Given the description of an element on the screen output the (x, y) to click on. 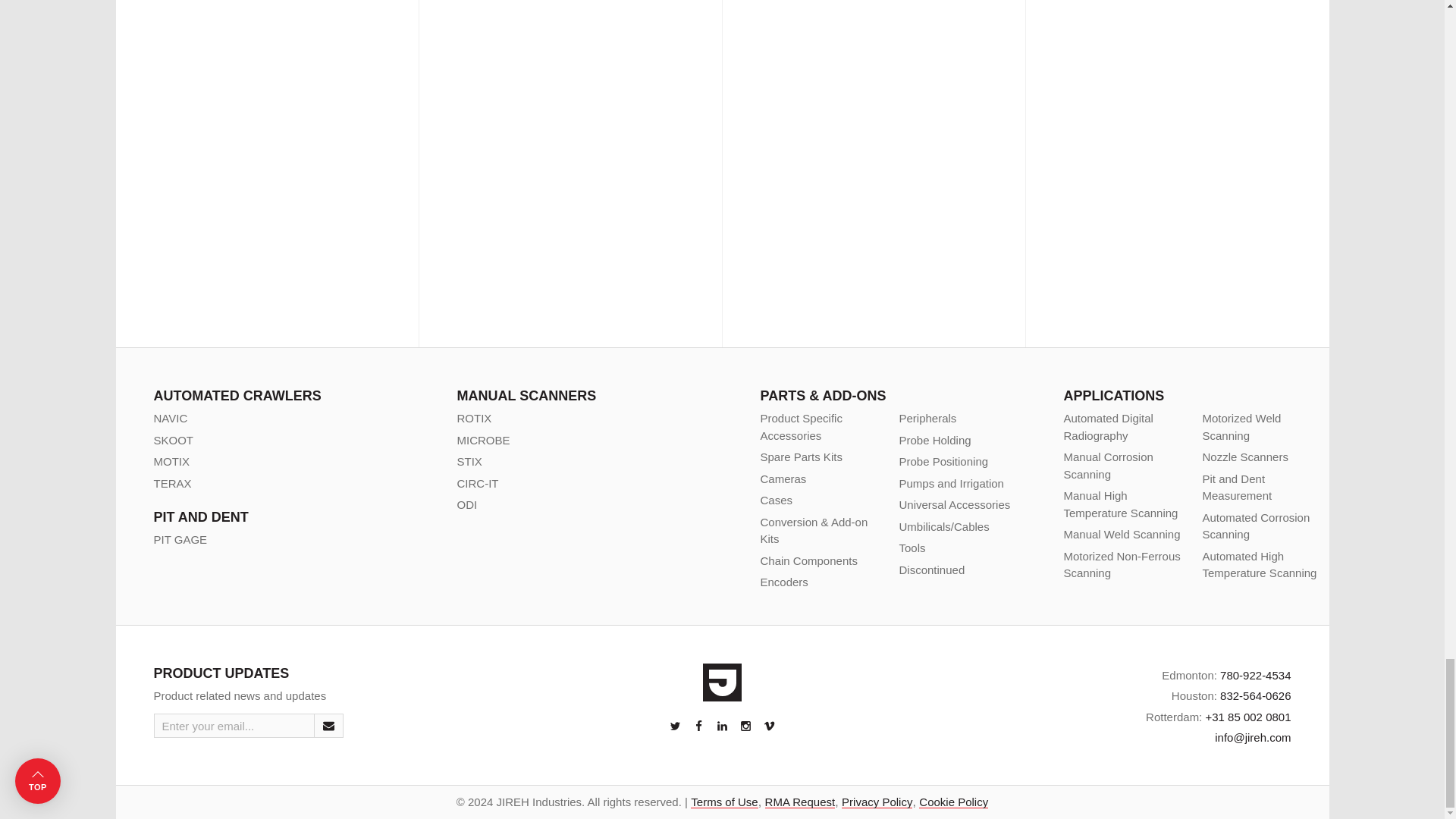
Privacy Policy (876, 801)
JIREH Industries (722, 682)
JIREH Industries (722, 682)
Cookie Policy (953, 801)
